Given the description of an element on the screen output the (x, y) to click on. 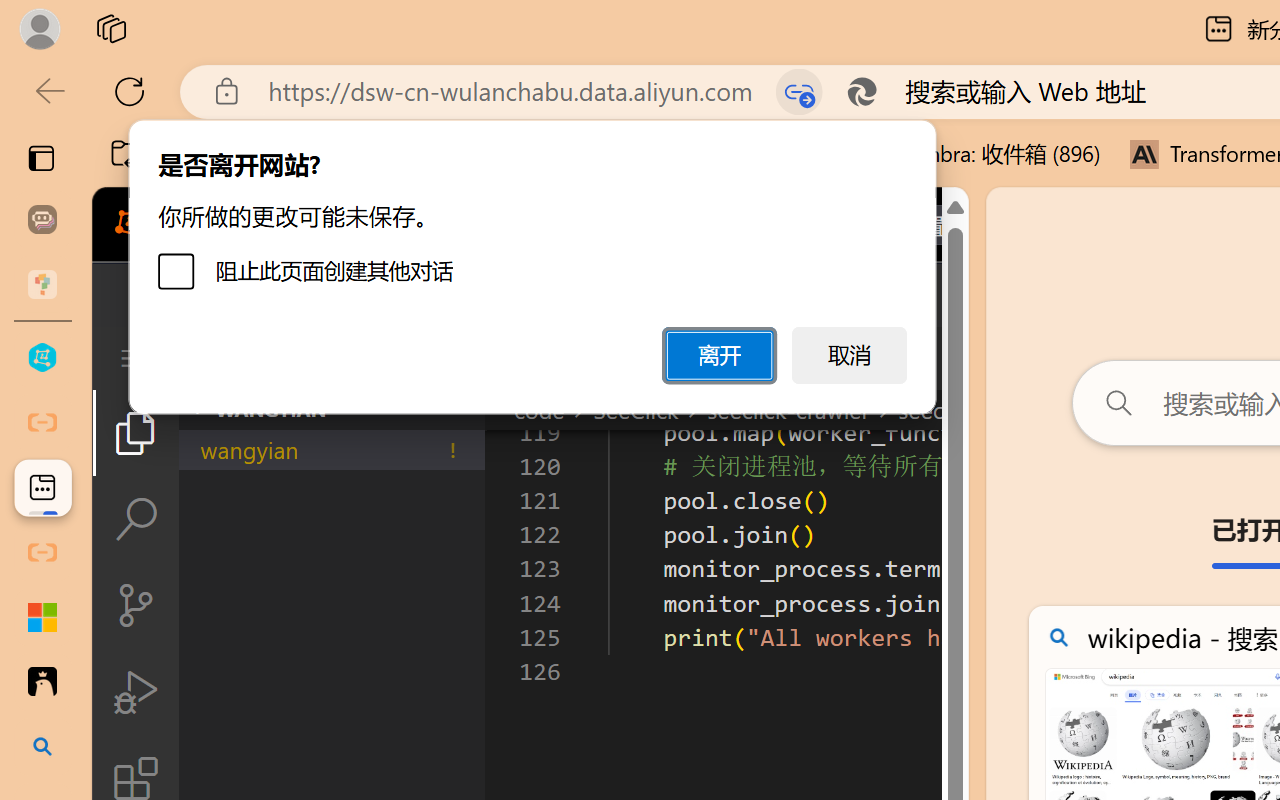
Inspect without Color (353, 114)
Shape Outline (286, 94)
Captions & Subtitles (1019, 168)
Spelling... (432, 114)
Accessibility Help (1070, 114)
Text Highlight Color (178, 114)
Screen Reader (805, 168)
Alt Text (582, 114)
